Given the description of an element on the screen output the (x, y) to click on. 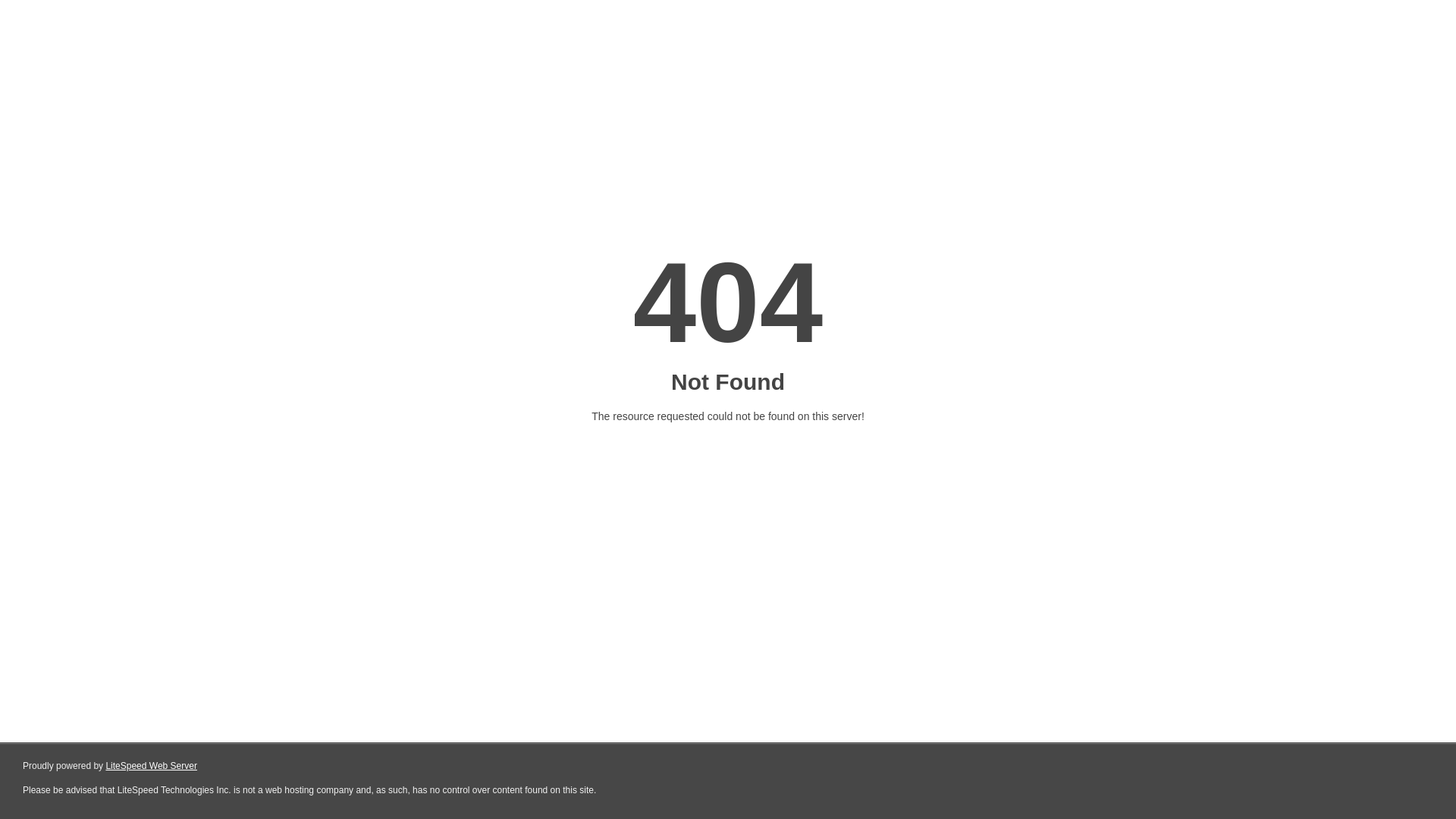
LiteSpeed Web Server Element type: text (151, 765)
